Given the description of an element on the screen output the (x, y) to click on. 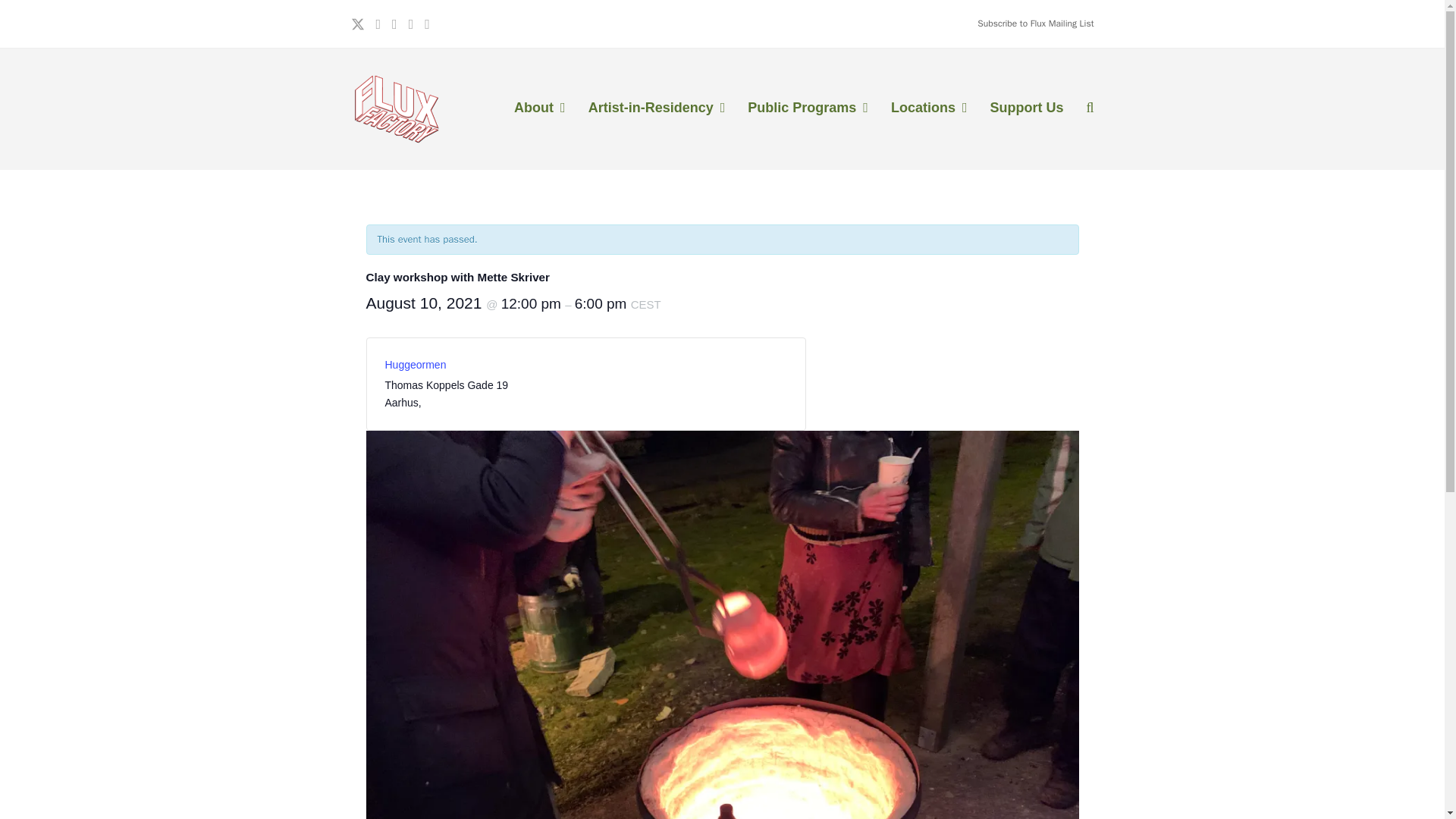
Public Programs (807, 108)
Artist-in-Residency (656, 108)
Locations (928, 108)
About (539, 108)
Subscribe to Flux Mailing List (1034, 23)
Huggeormen (415, 364)
Support Us (1026, 108)
Huggeormen (415, 364)
